Given the description of an element on the screen output the (x, y) to click on. 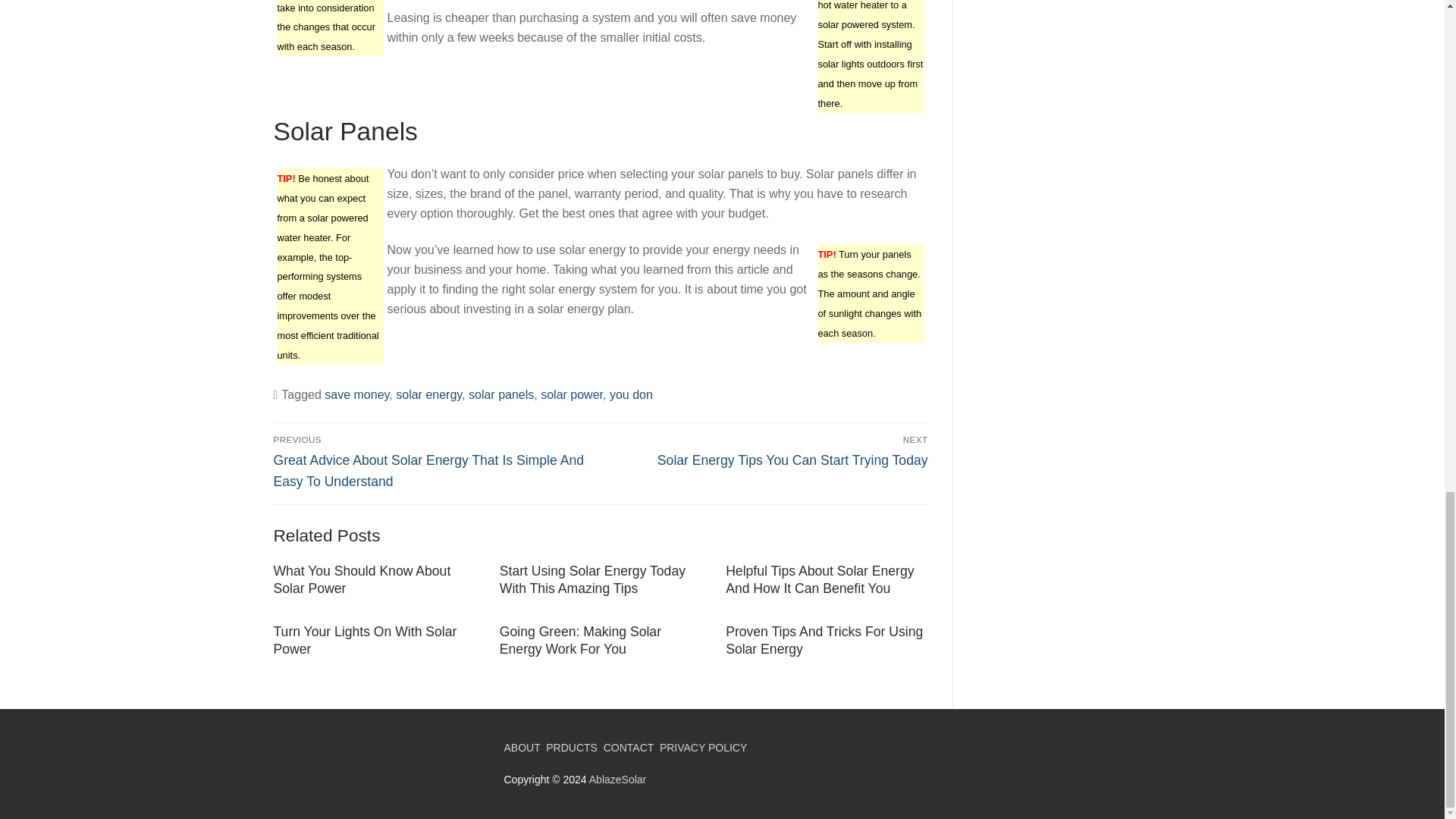
Helpful Tips About Solar Energy And How It Can Benefit You (819, 579)
save money (356, 394)
Start Using Solar Energy Today With This Amazing Tips (592, 579)
Going Green: Making Solar Energy Work For You (580, 640)
Going Green: Making Solar Energy Work For You (580, 640)
solar energy (428, 394)
Proven Tips And Tricks For Using Solar Energy (824, 640)
What You Should Know About Solar Power (361, 579)
Proven Tips And Tricks For Using Solar Energy (824, 640)
